Given the description of an element on the screen output the (x, y) to click on. 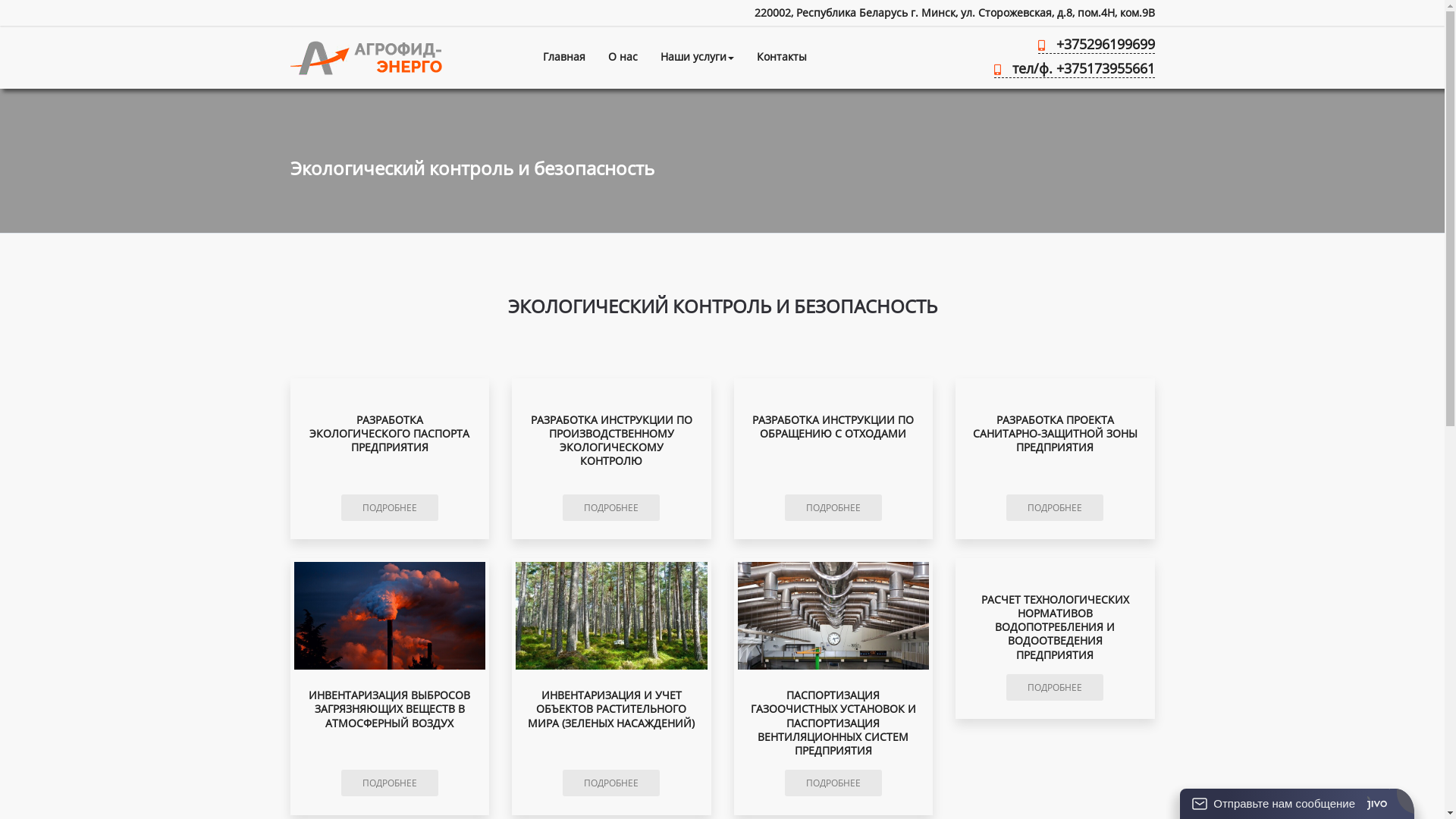
+375296199699 Element type: text (1095, 46)
